Given the description of an element on the screen output the (x, y) to click on. 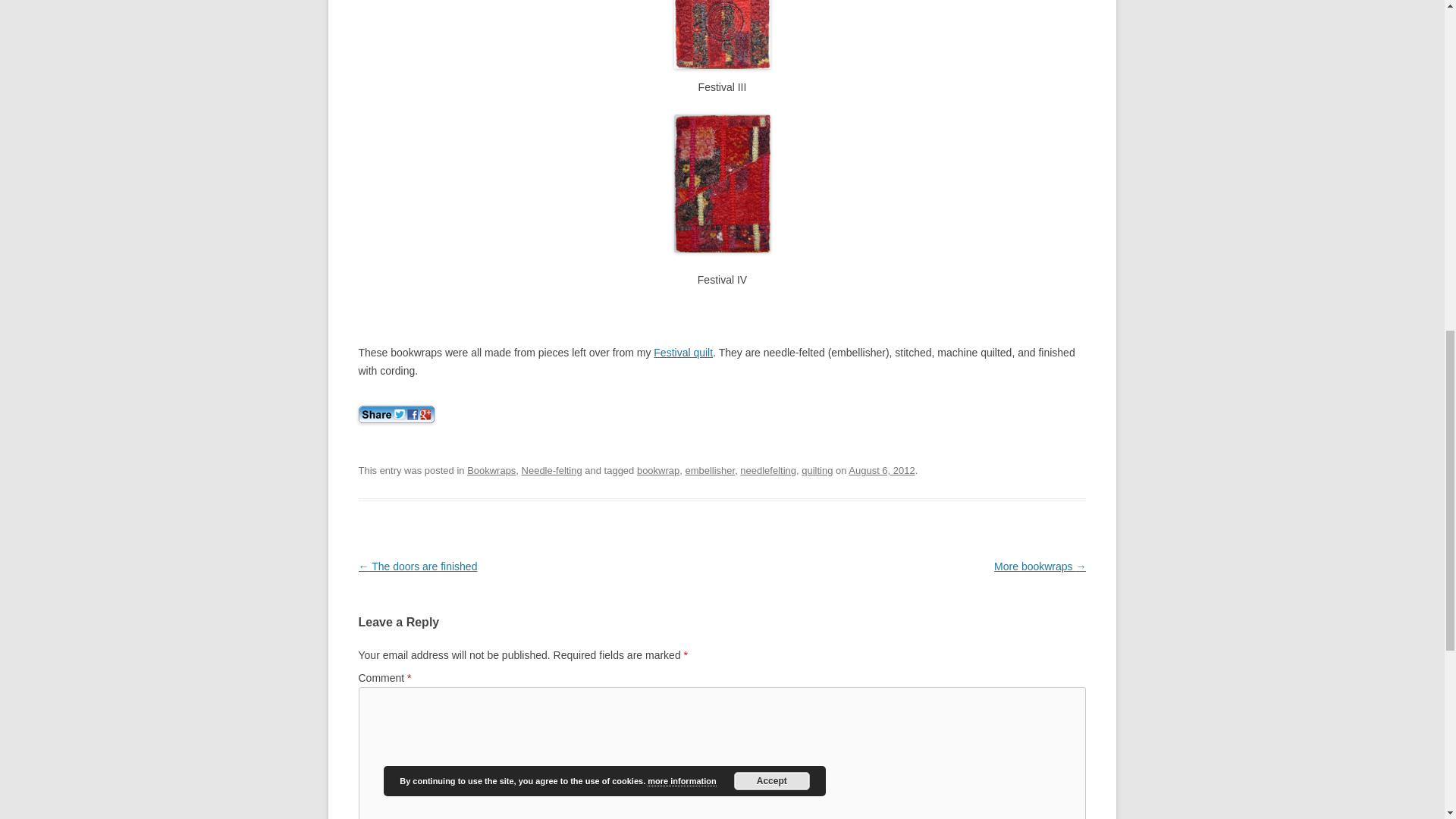
bookwrap (658, 470)
embellisher (709, 470)
August 6, 2012 (881, 470)
Festival III (722, 33)
quilting (817, 470)
needlefelting (767, 470)
4:53 pm (881, 470)
Festival of Quilts (683, 352)
Needle-felting (551, 470)
Festival quilt (683, 352)
